Given the description of an element on the screen output the (x, y) to click on. 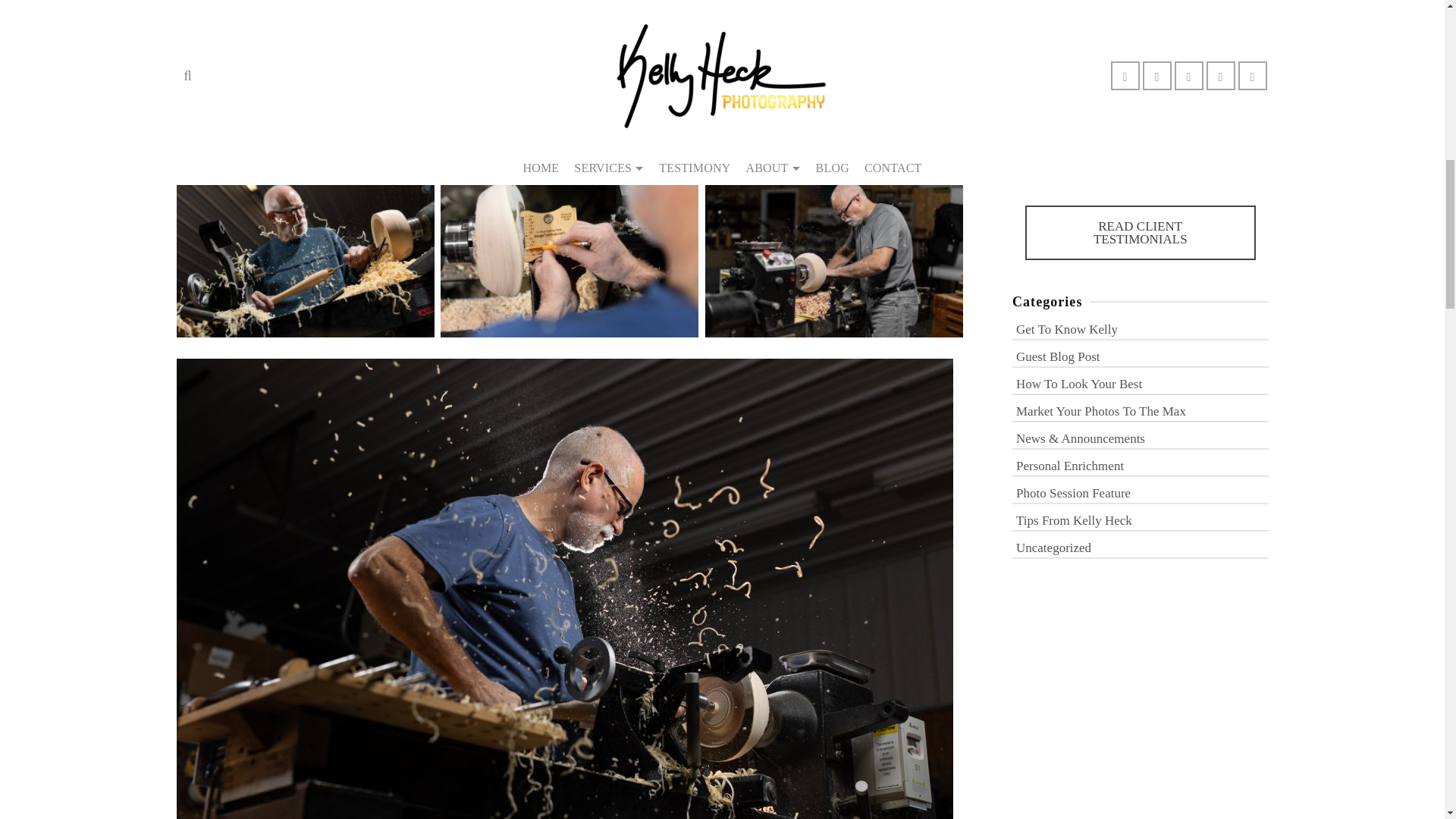
Remembering My Photography Mentor: Jerry Kornaski (1034, 30)
Remembering My Photography Mentor: Jerry Kornaski (1146, 21)
